Given the description of an element on the screen output the (x, y) to click on. 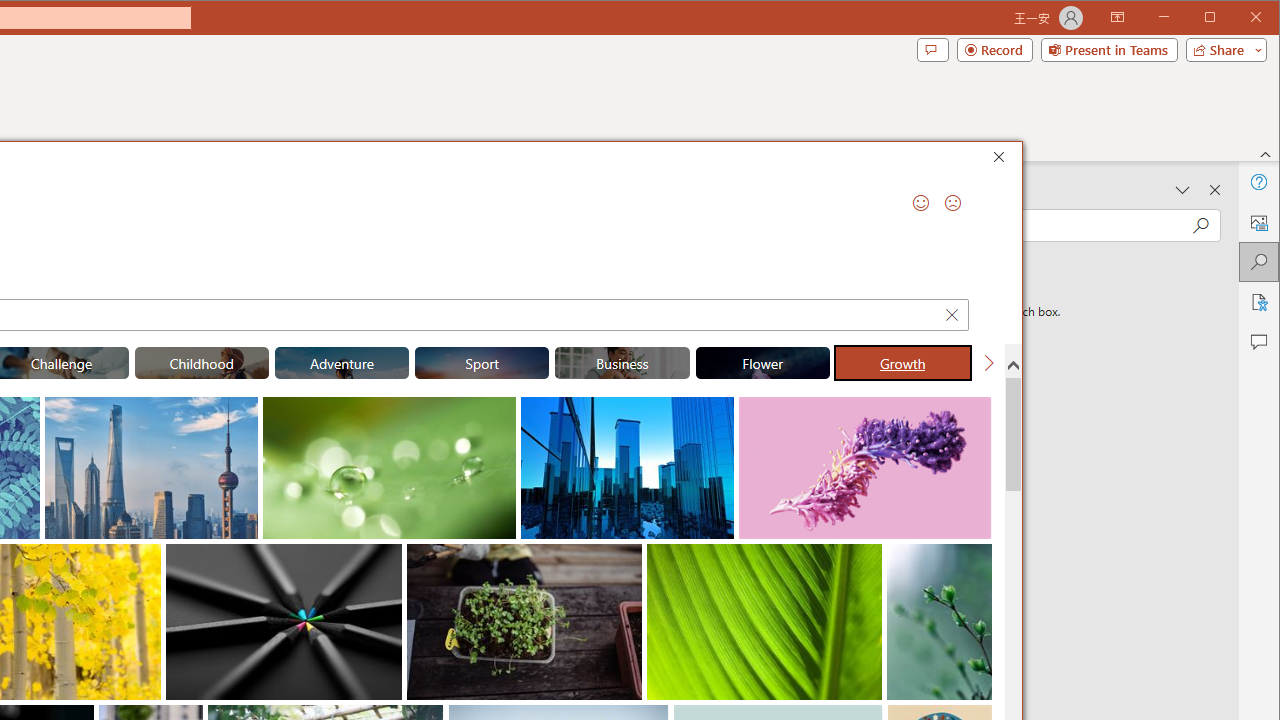
Comments (932, 49)
Share (1222, 49)
Minimize (1216, 18)
"Business" Stock Images. (622, 362)
Maximize (1238, 18)
"Sport" Stock Images. (481, 362)
Next Search Suggestion (988, 362)
Send a Smile (920, 202)
Close (1004, 160)
"Childhood" Stock Images. (201, 362)
Close pane (1215, 189)
